Given the description of an element on the screen output the (x, y) to click on. 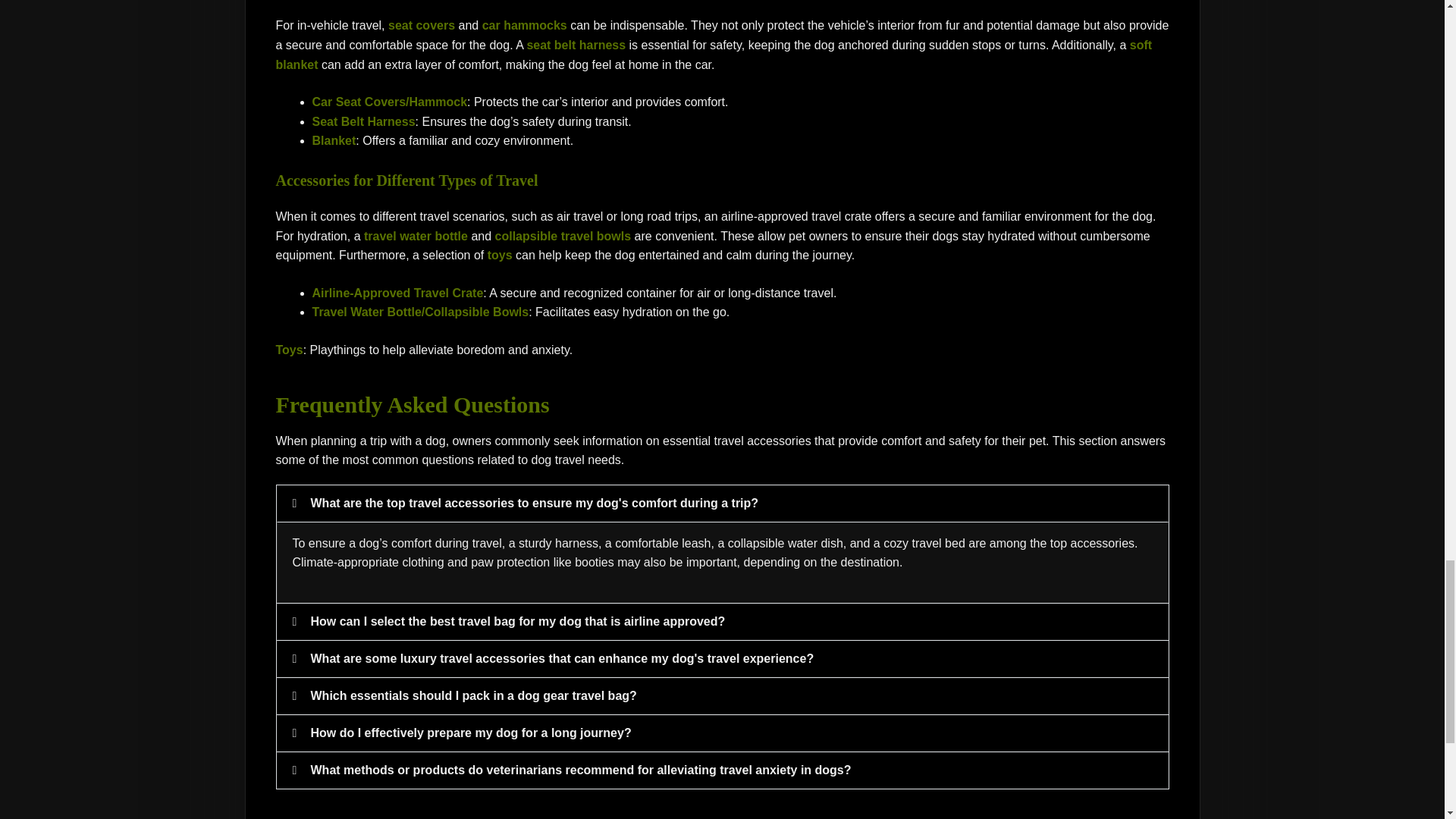
Which essentials should I pack in a dog gear travel bag? (474, 695)
